Given the description of an element on the screen output the (x, y) to click on. 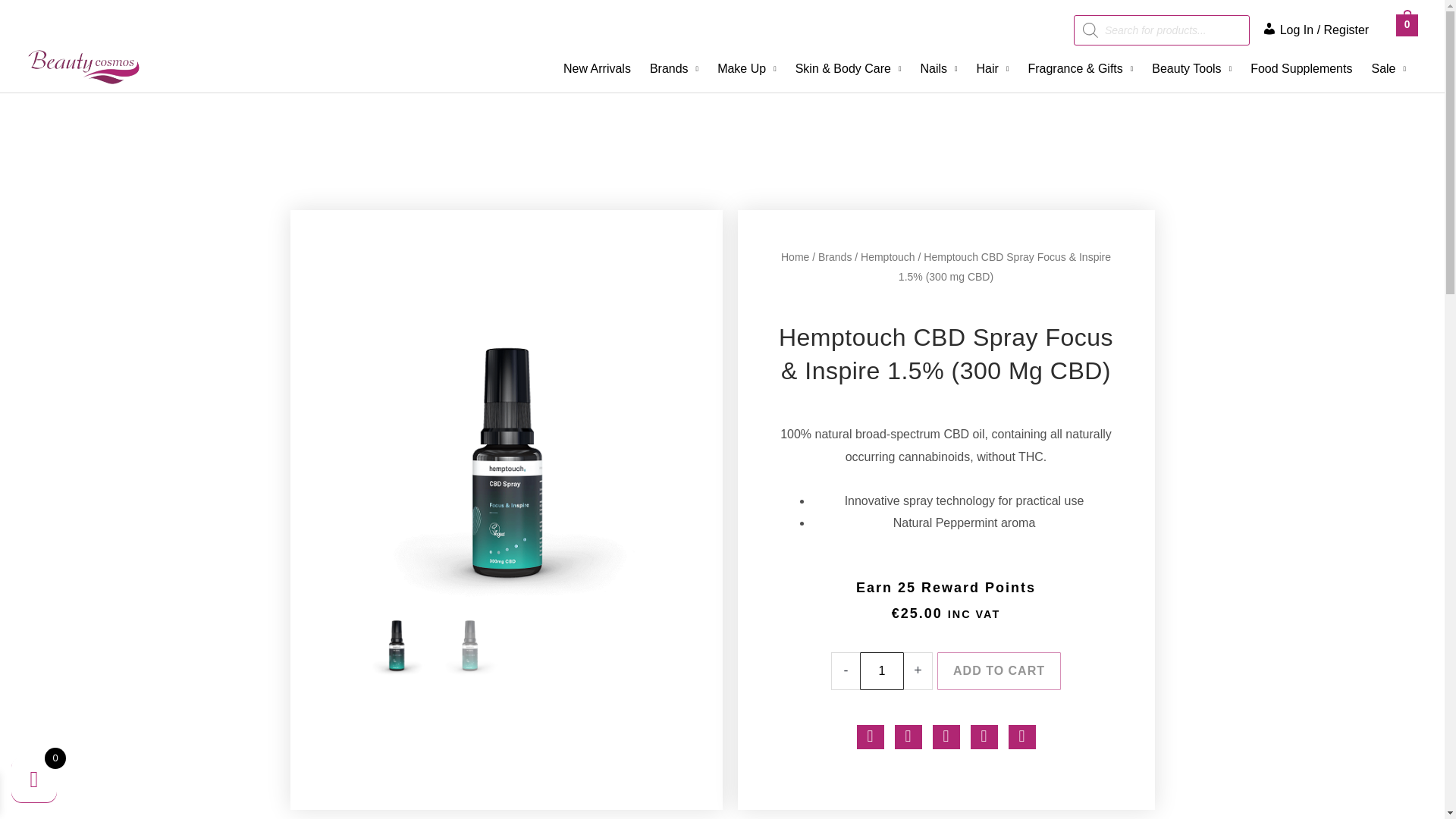
Brands (676, 71)
New Arrivals (599, 71)
0 (1407, 24)
1 (882, 670)
